Given the description of an element on the screen output the (x, y) to click on. 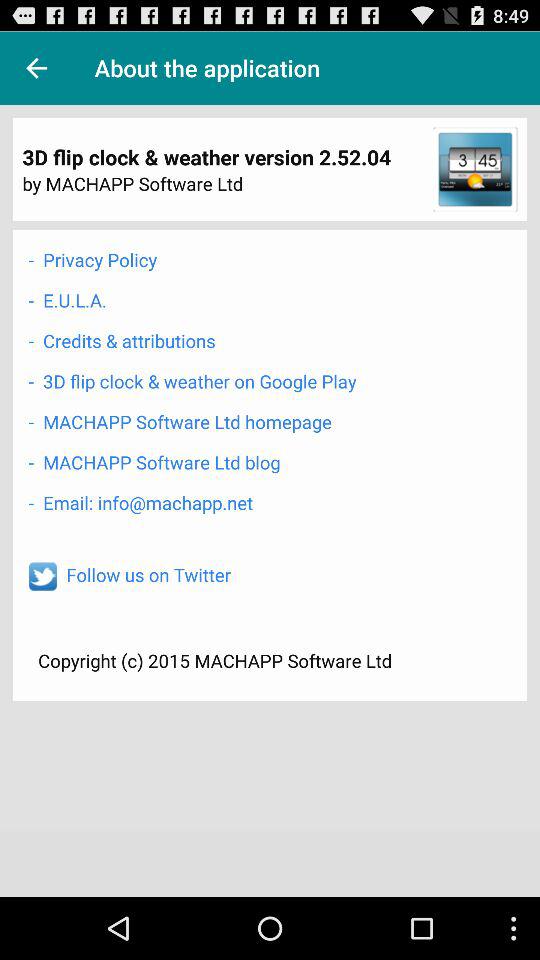
open item next to about the application item (36, 68)
